Given the description of an element on the screen output the (x, y) to click on. 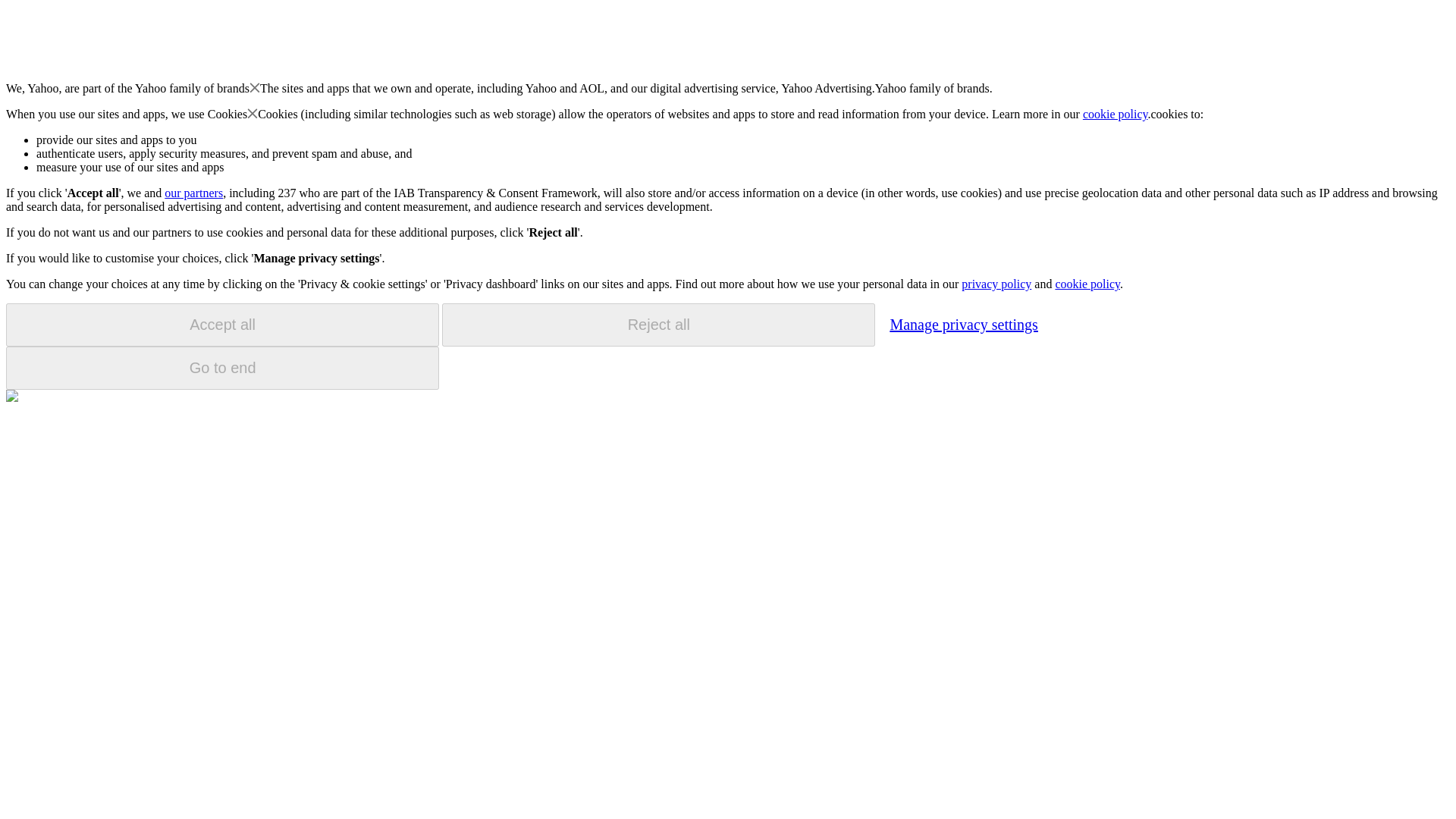
Reject all (658, 324)
Accept all (222, 324)
privacy policy (995, 283)
cookie policy (1115, 113)
Go to end (222, 367)
Manage privacy settings (963, 323)
our partners (193, 192)
cookie policy (1086, 283)
